Given the description of an element on the screen output the (x, y) to click on. 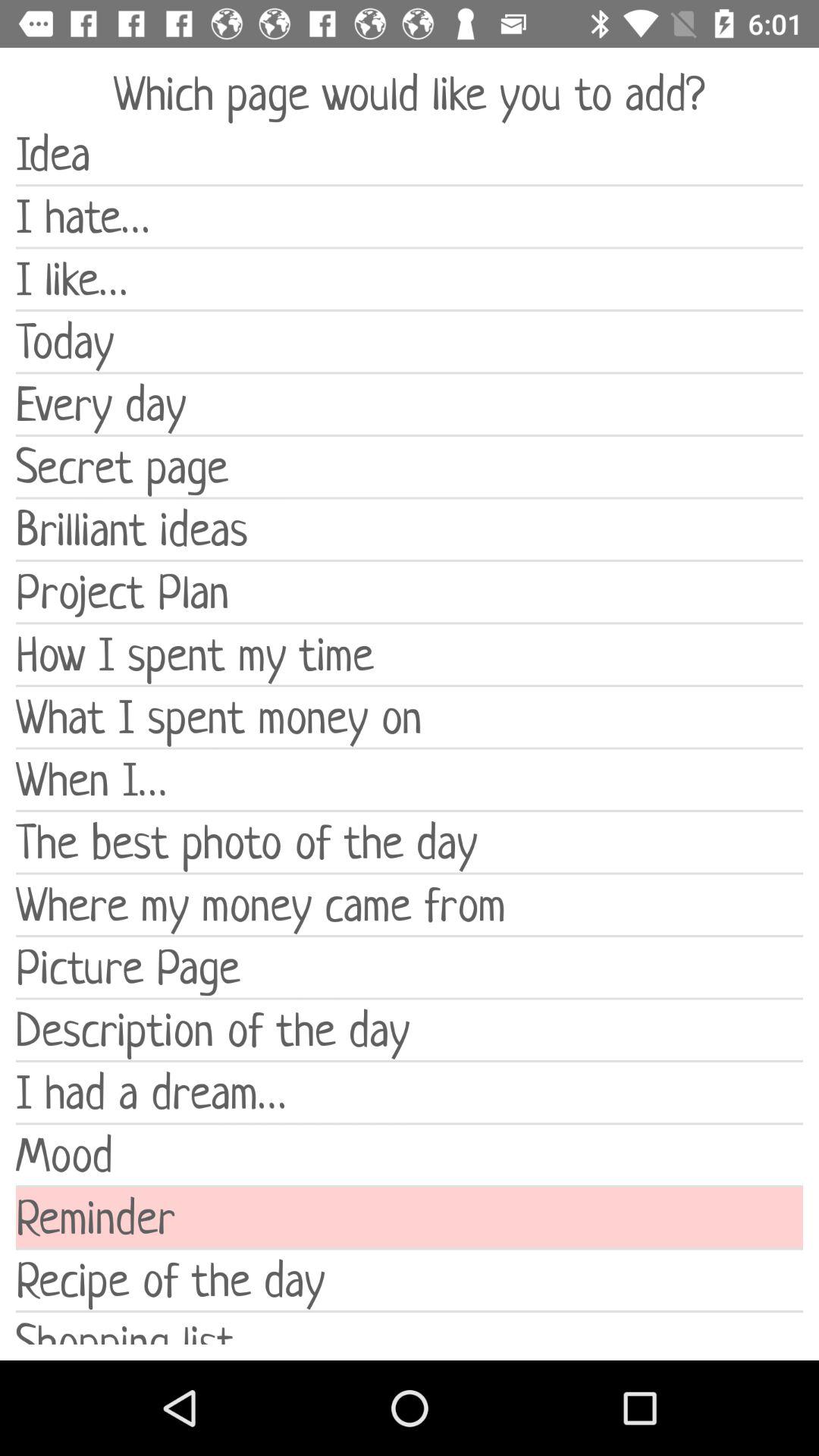
open the icon above the picture page (409, 904)
